Given the description of an element on the screen output the (x, y) to click on. 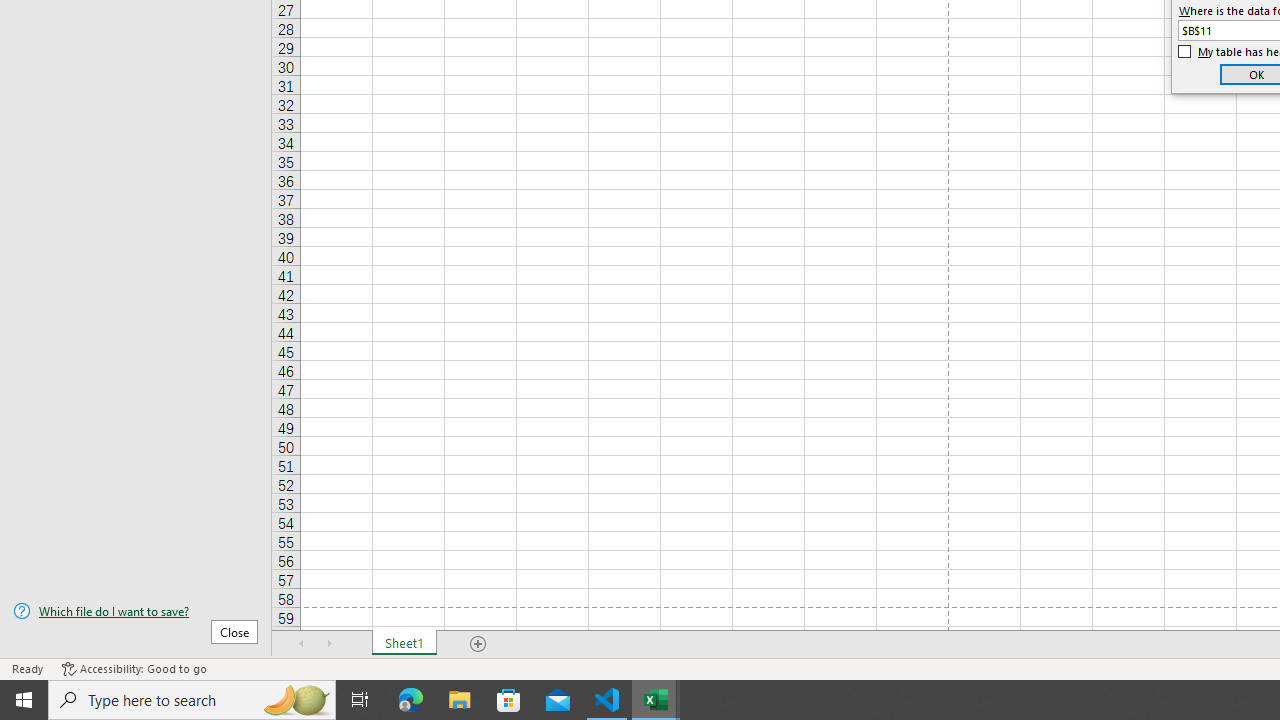
Which file do I want to save? (136, 611)
Accessibility Checker Accessibility: Good to go (134, 668)
